Given the description of an element on the screen output the (x, y) to click on. 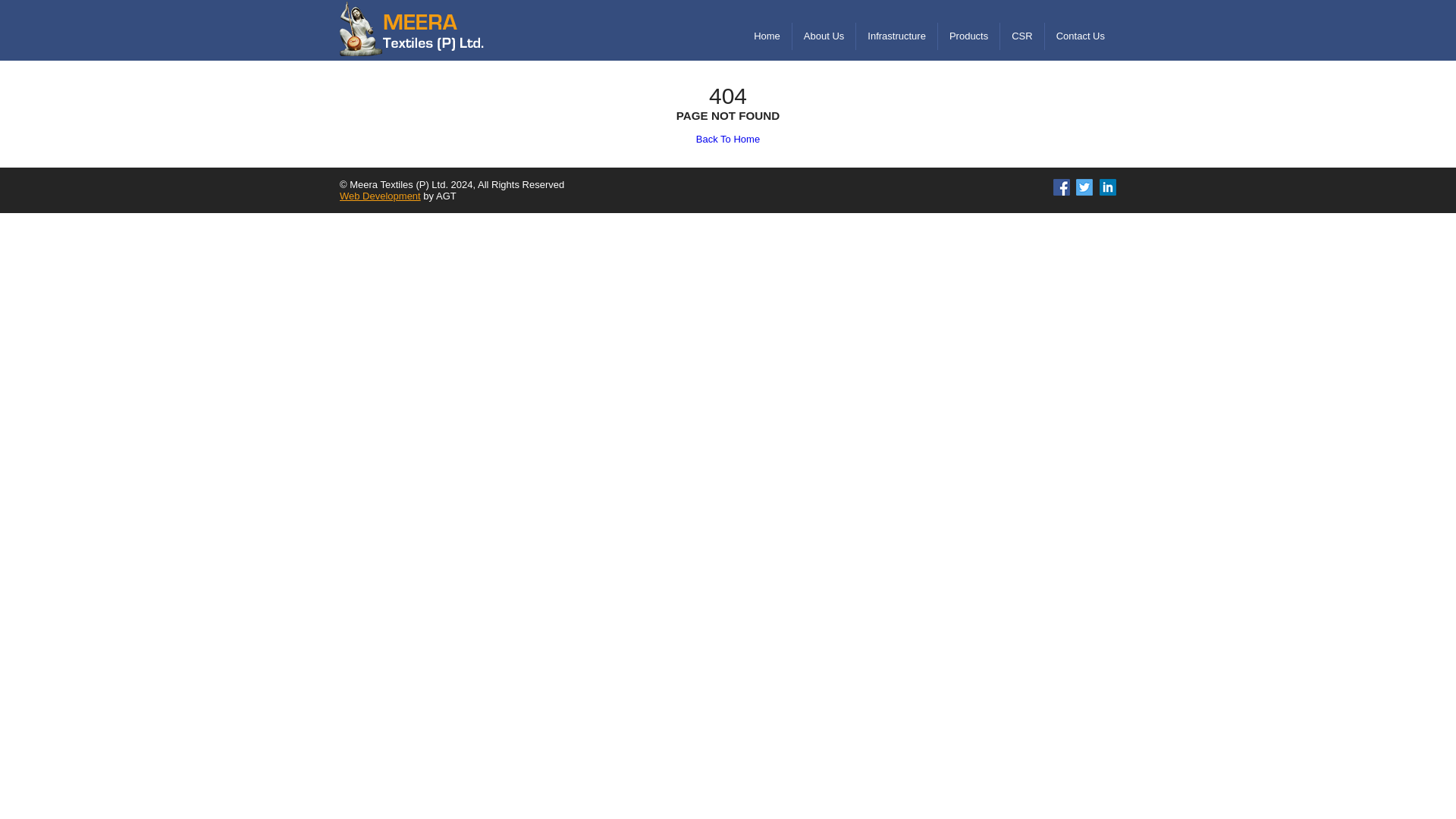
Web Development (379, 195)
Home (767, 35)
CSR (1021, 35)
About Us (824, 35)
Products (967, 35)
Infrastructure (896, 35)
Back To Home (727, 138)
Contact Us (1080, 35)
